Given the description of an element on the screen output the (x, y) to click on. 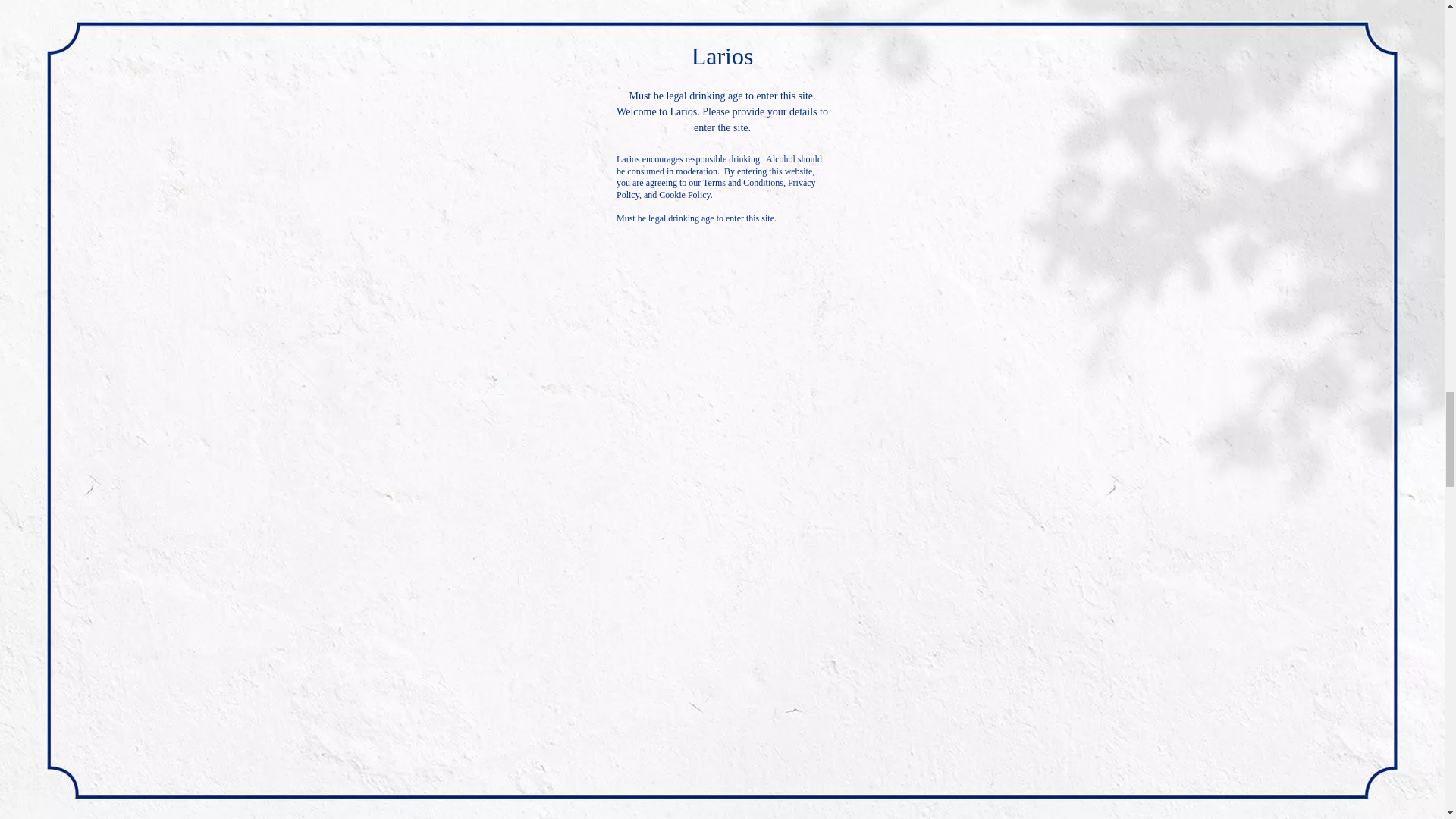
Larios Mediterranean Memories (1150, 668)
Larios London Dry Gin (293, 164)
Larios Raspberry Bliss (721, 668)
Larios Mediterranean Garden (293, 668)
